Given the description of an element on the screen output the (x, y) to click on. 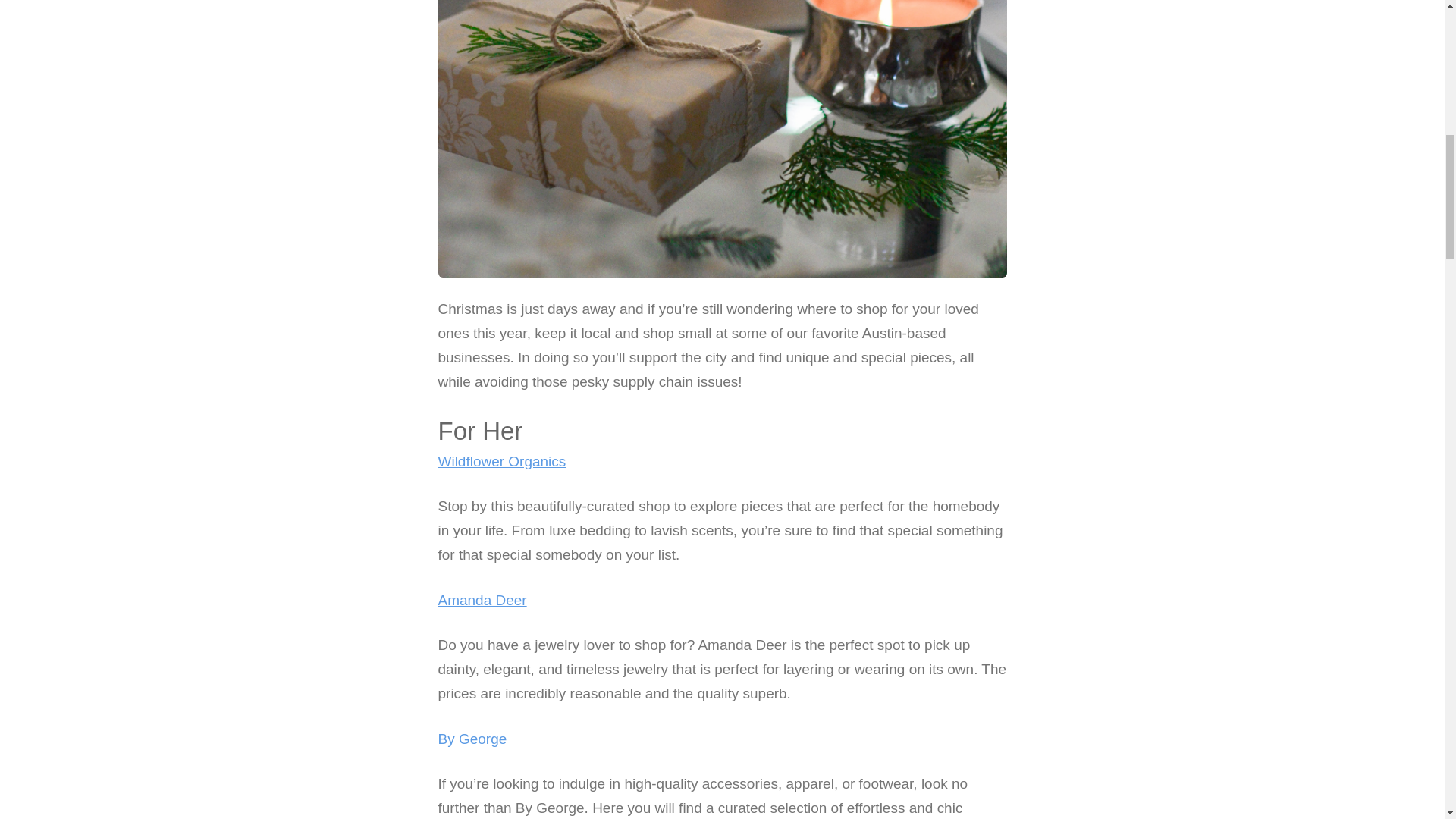
By George (472, 738)
Wildflower Organics (502, 461)
Amanda Deer (482, 600)
